Given the description of an element on the screen output the (x, y) to click on. 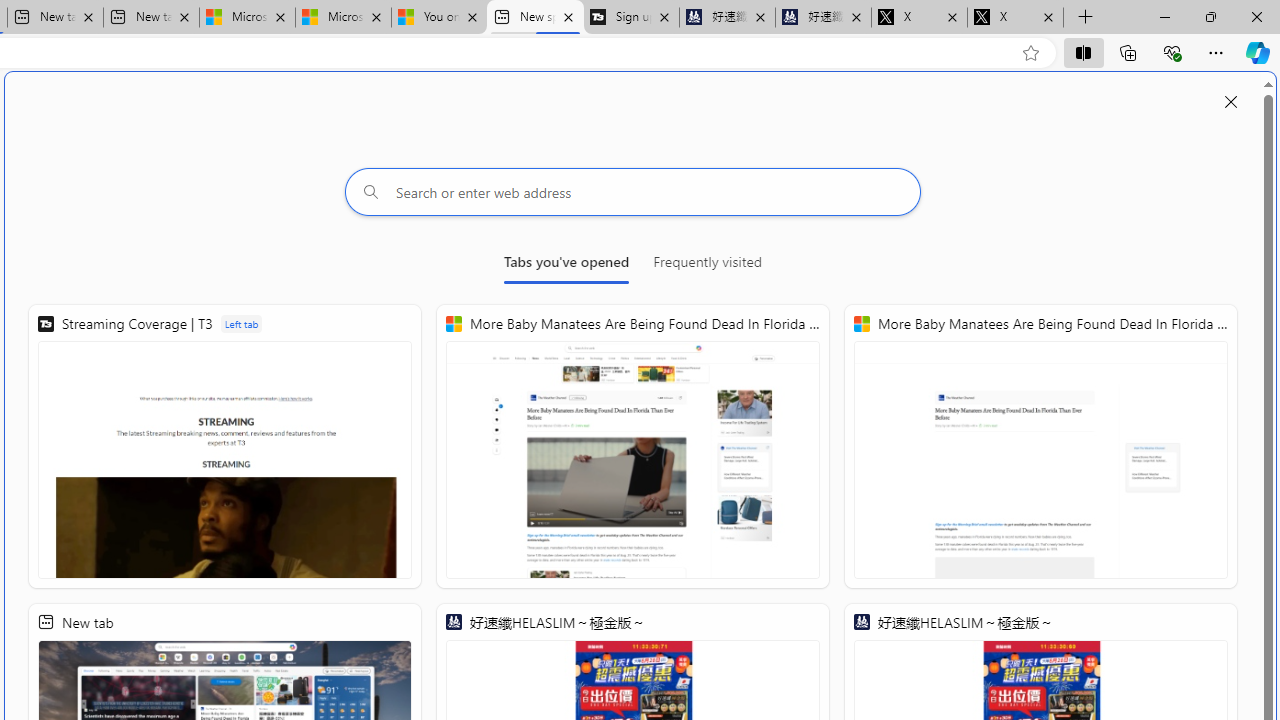
Streaming Coverage | T3 (225, 446)
Frequently visited (707, 265)
Close split screen (1231, 102)
Search or enter web address (633, 191)
